Given the description of an element on the screen output the (x, y) to click on. 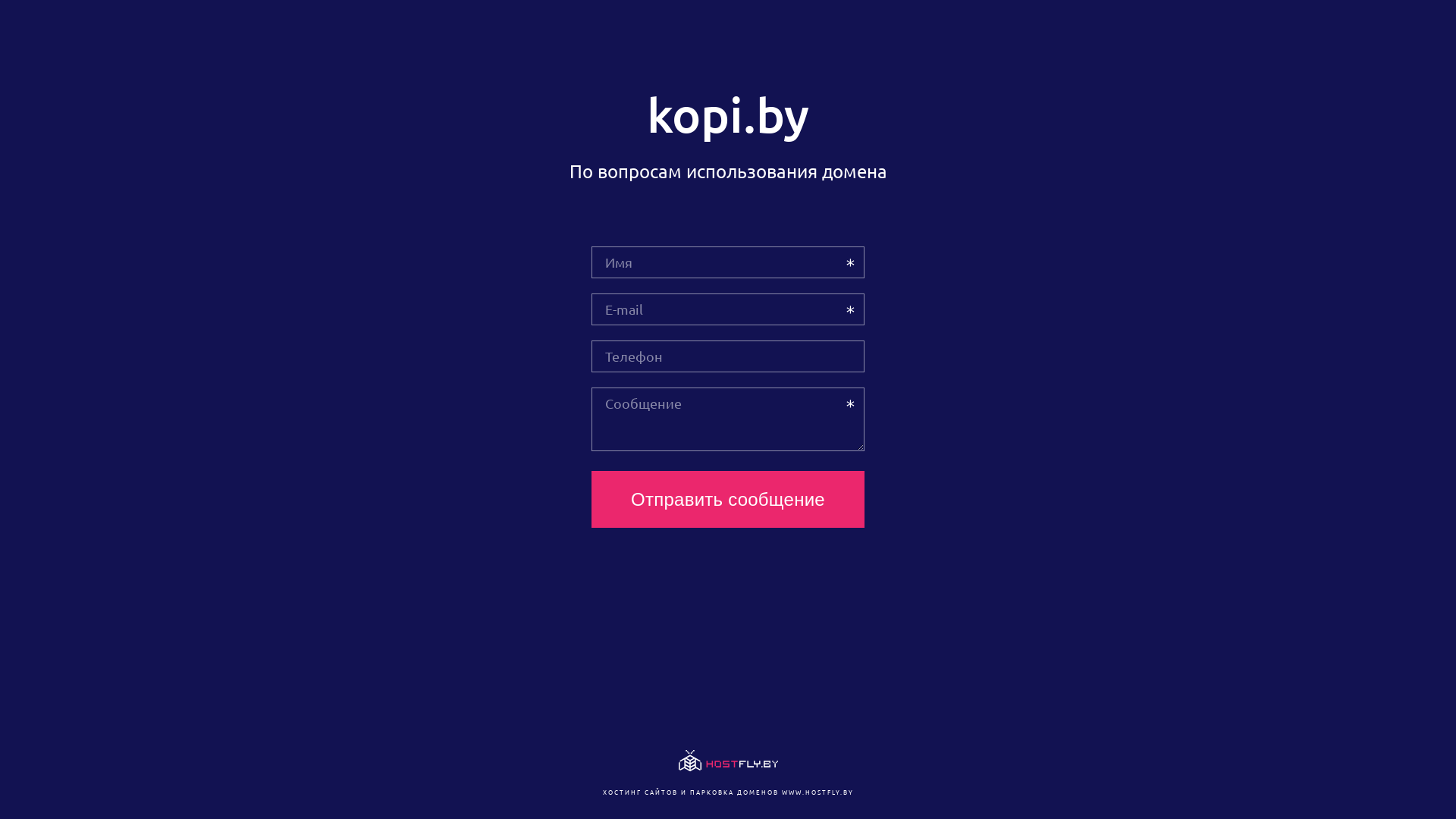
WWW.HOSTFLY.BY Element type: text (817, 791)
